Given the description of an element on the screen output the (x, y) to click on. 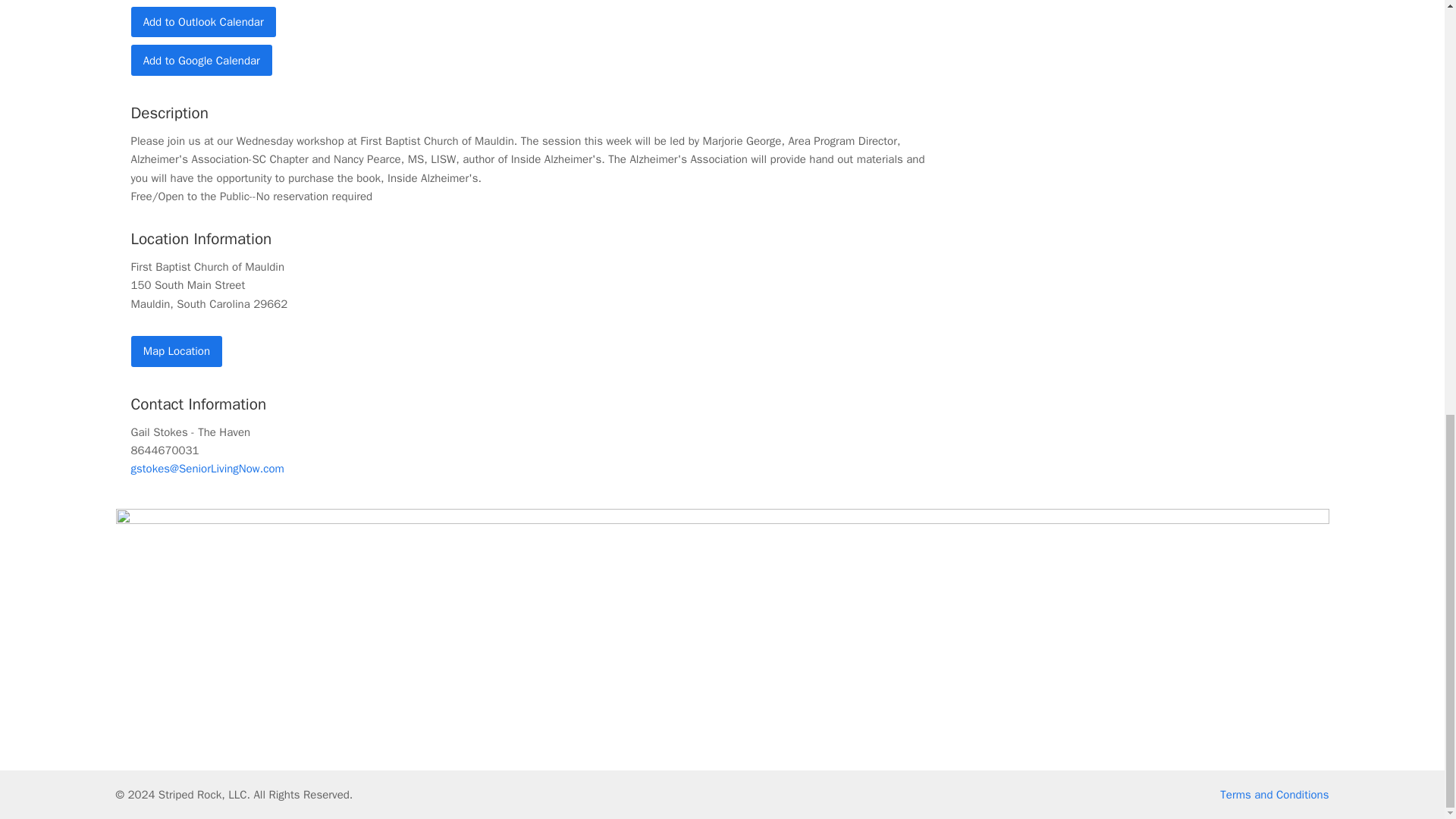
Add to Outlook Calendar (203, 21)
Add to Outlook Calendar (203, 21)
Map Location (176, 350)
Terms and Conditions (1273, 794)
Add to Google Calendar (201, 60)
